Given the description of an element on the screen output the (x, y) to click on. 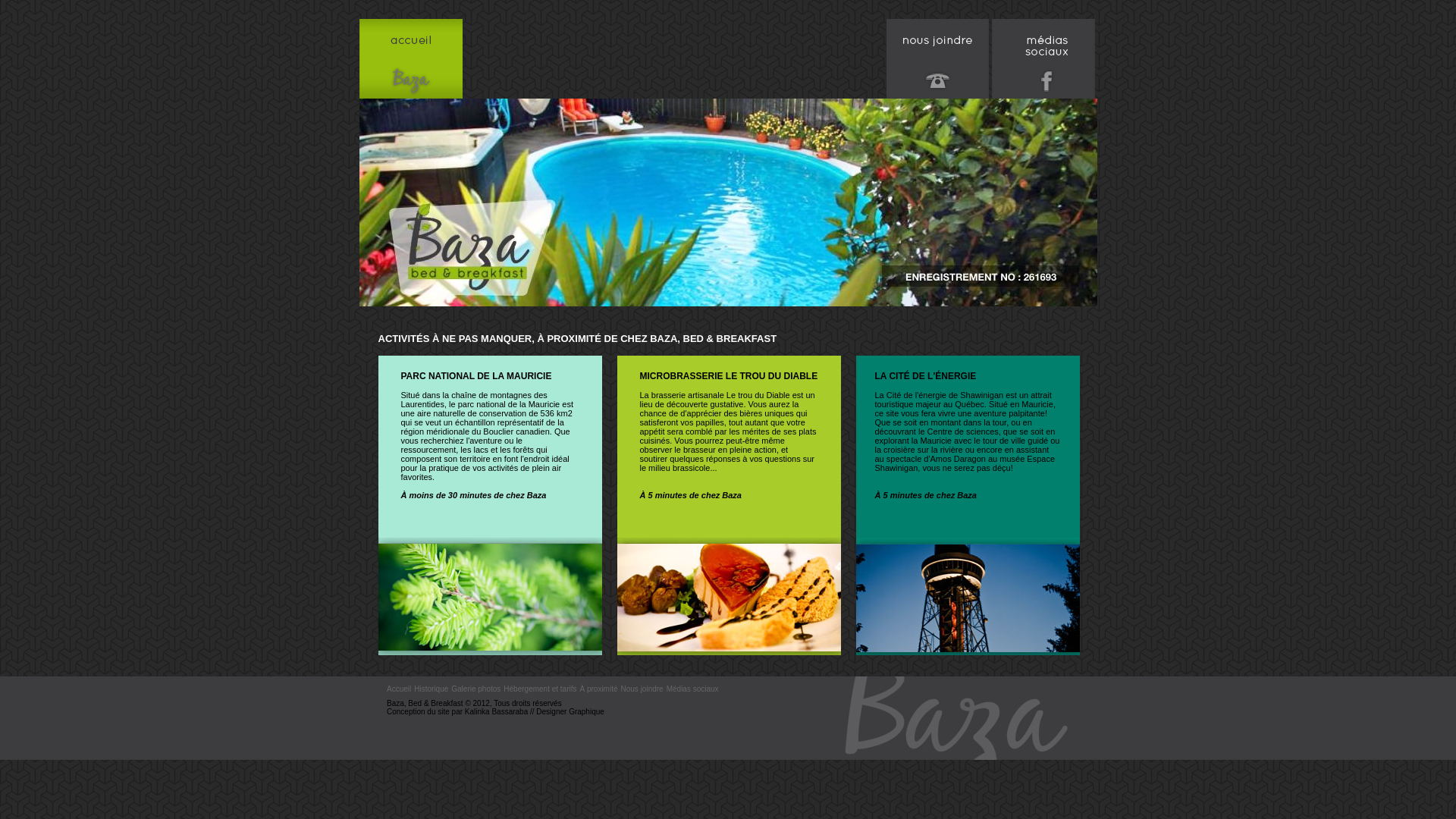
Nous joindre Element type: text (642, 688)
Accueil Element type: text (398, 688)
Galerie photos Element type: text (475, 688)
Historique Element type: text (431, 688)
